Given the description of an element on the screen output the (x, y) to click on. 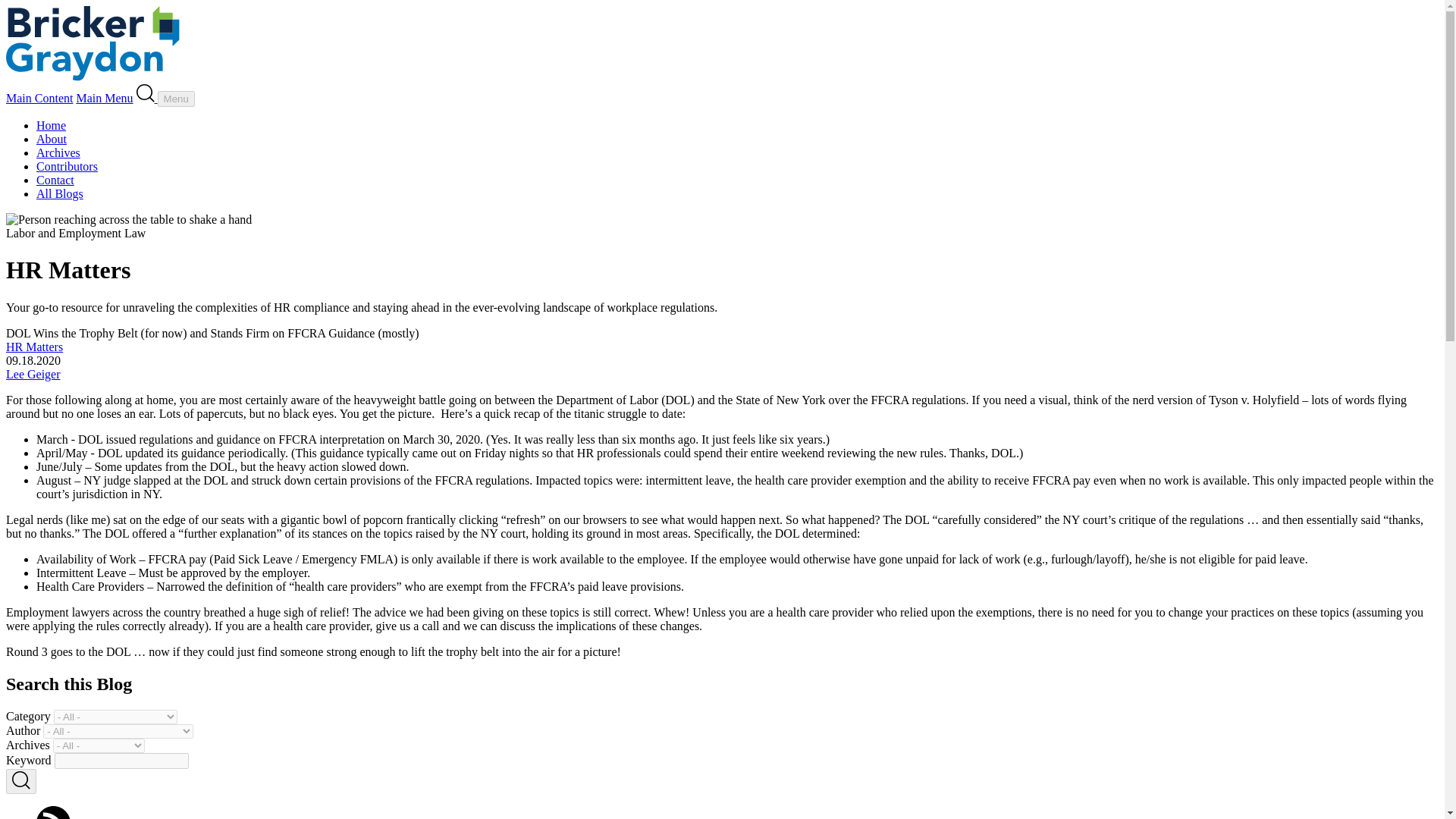
All Blogs (59, 193)
Search (146, 97)
Search (20, 781)
Main Menu (103, 97)
Menu (176, 98)
Search (145, 93)
Search (146, 97)
Main Content (38, 97)
Archives (58, 152)
About (51, 138)
